Given the description of an element on the screen output the (x, y) to click on. 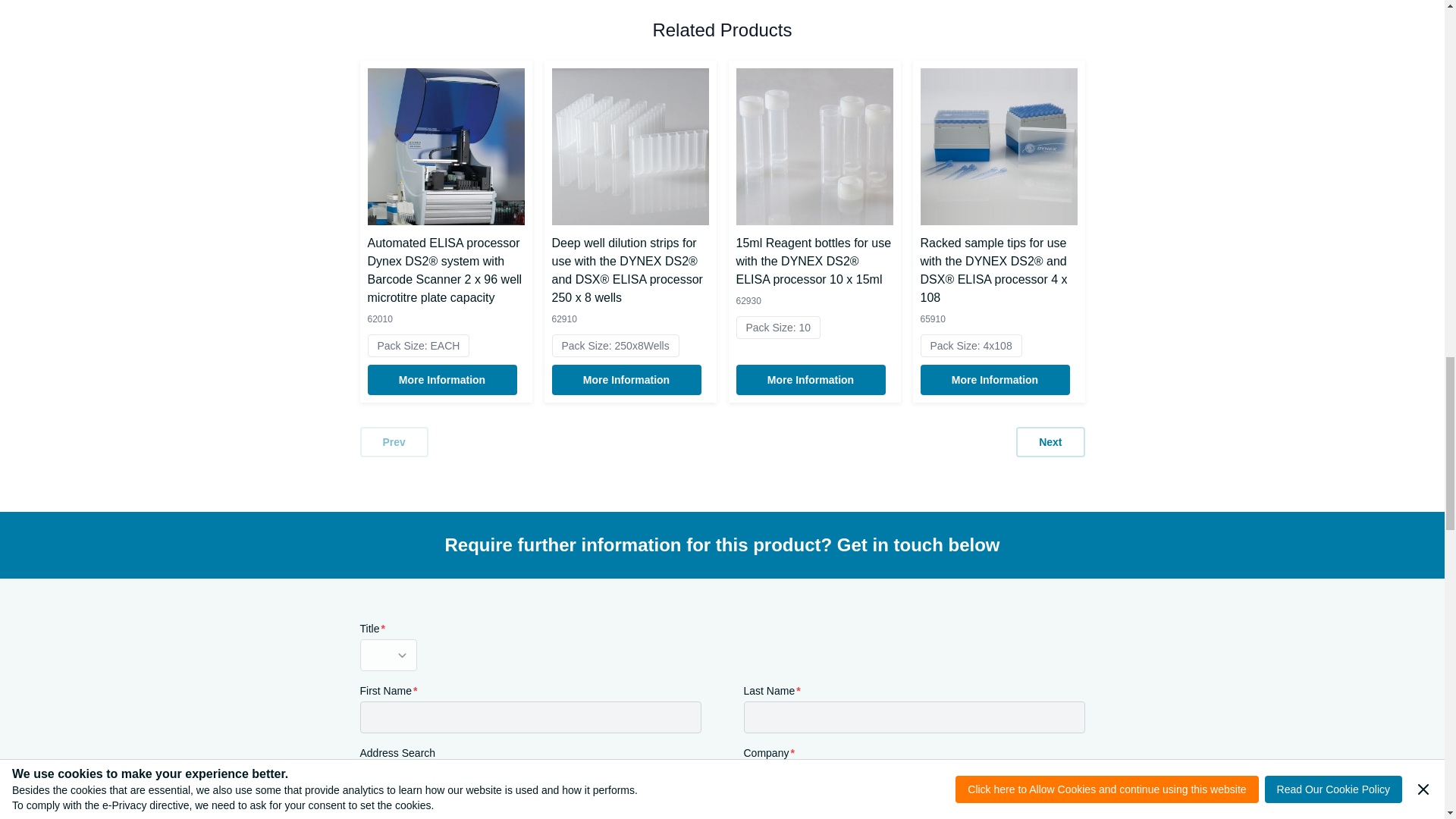
Address Search (529, 779)
Title (387, 654)
